Given the description of an element on the screen output the (x, y) to click on. 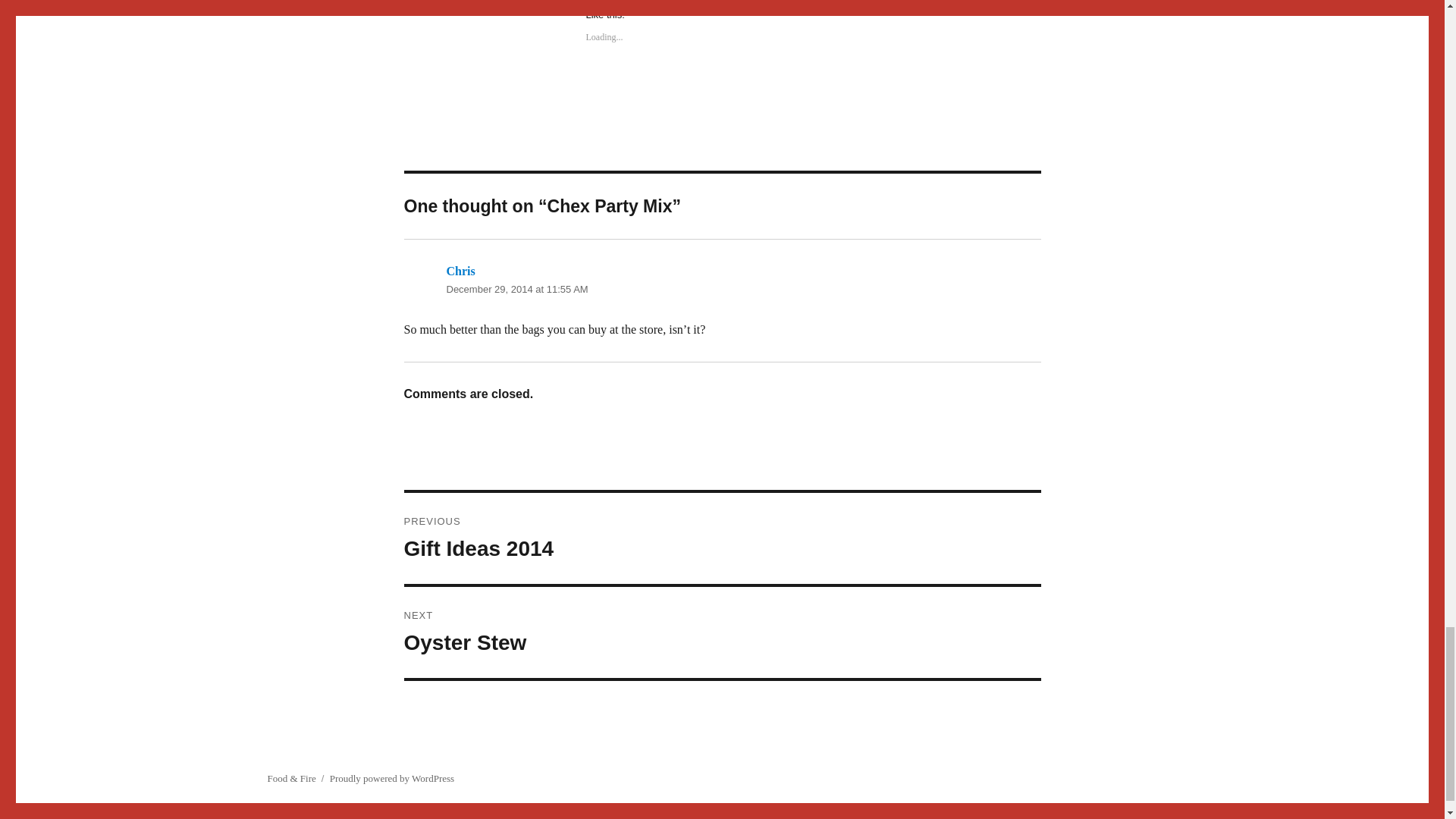
Proudly powered by WordPress (392, 778)
December 29, 2014 at 11:55 AM (722, 538)
Chris (516, 288)
